Given the description of an element on the screen output the (x, y) to click on. 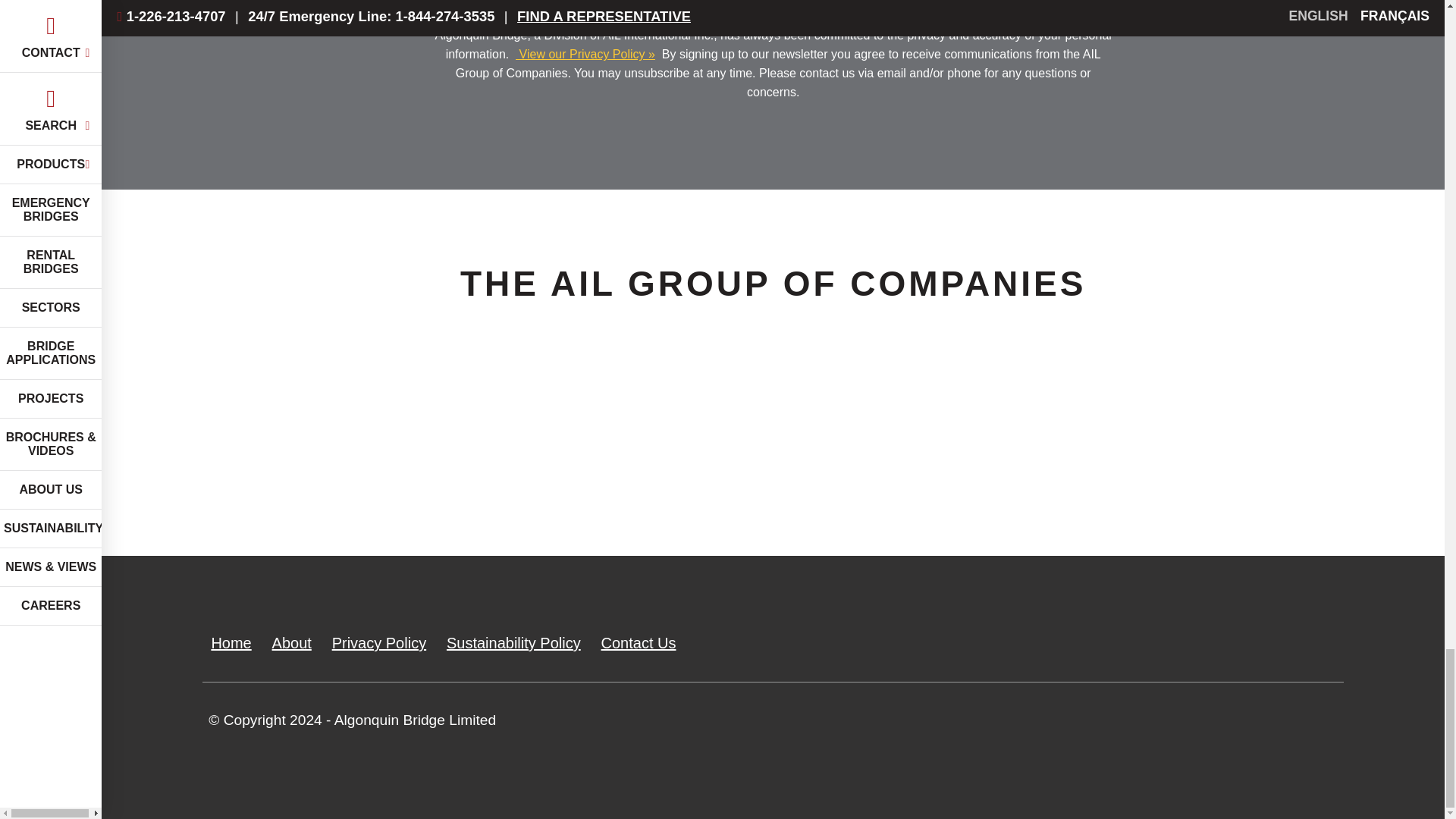
AIL Soundwalls (1013, 462)
AIL Internatinoal (784, 462)
AIL Mining (1241, 462)
Algonquin Bridge (556, 462)
AIL (328, 462)
